Given the description of an element on the screen output the (x, y) to click on. 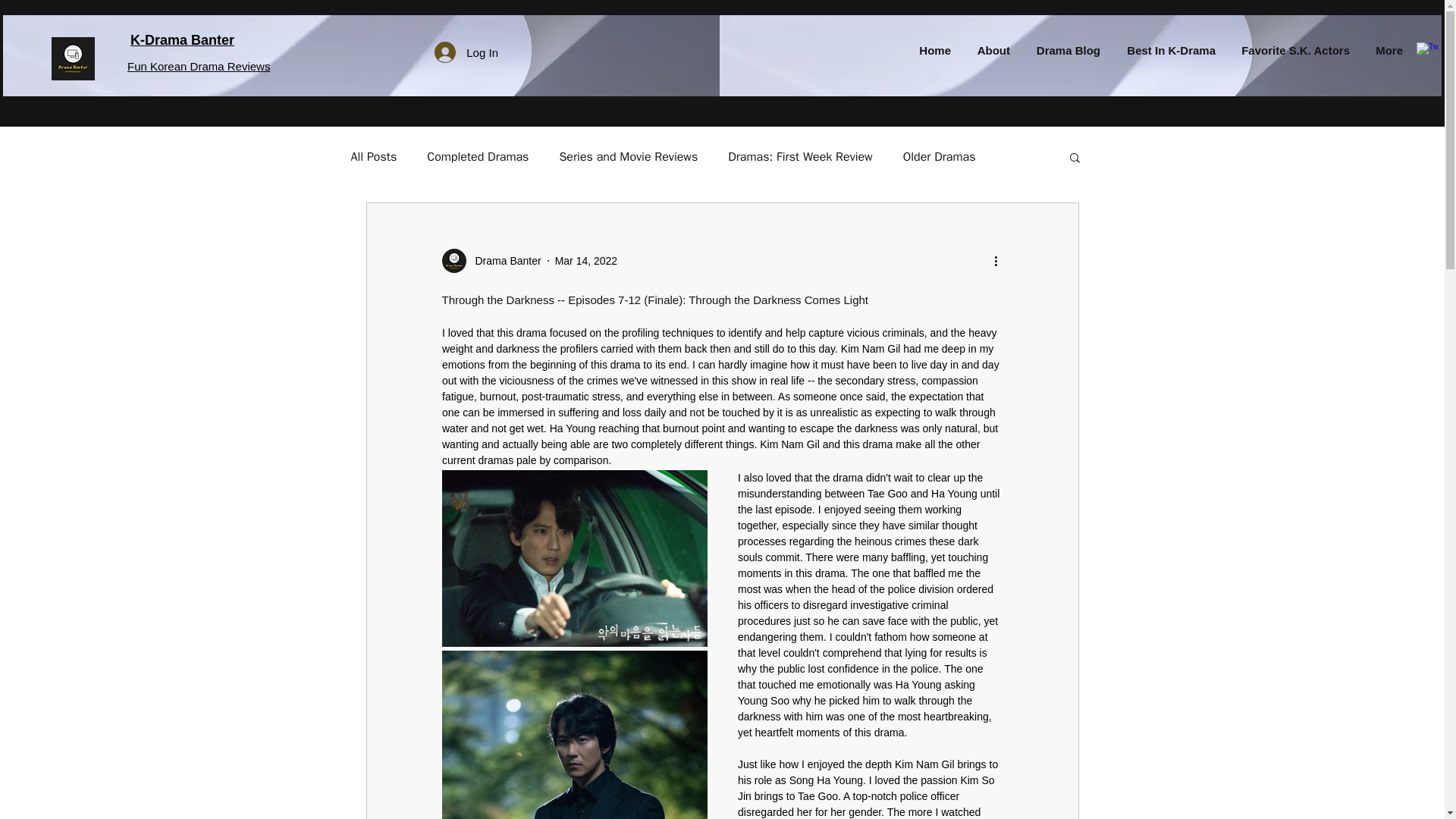
Favorite S.K. Actors (1289, 49)
Drama Blog (1062, 49)
Series and Movie Reviews (628, 157)
Completed Dramas (477, 157)
Drama Banter (490, 260)
Dramas: First Week Review (800, 157)
Mar 14, 2022 (585, 260)
Drama Banter (502, 261)
Log In (465, 51)
Best In K-Drama (1165, 49)
All Posts (373, 157)
About (987, 49)
Home (928, 49)
Older Dramas (938, 157)
Fun Korean Drama Reviews (198, 65)
